Given the description of an element on the screen output the (x, y) to click on. 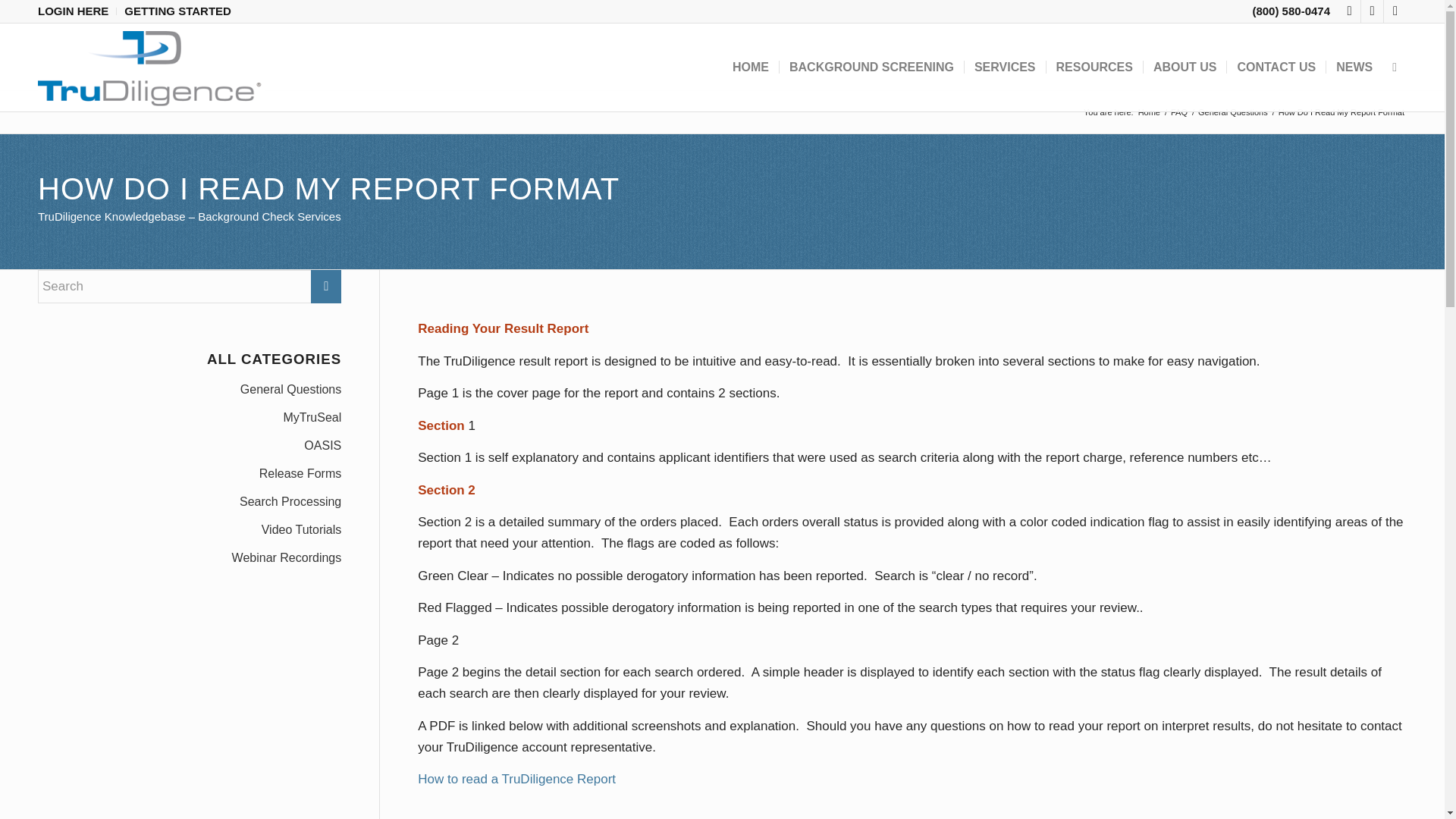
Facebook (1348, 11)
BACKGROUND SCREENING (870, 67)
SERVICES (1004, 67)
LinkedIn (1395, 11)
CONTACT US (1274, 67)
ABOUT US (1184, 67)
X (1372, 11)
RESOURCES (1093, 67)
LOGIN HERE (72, 11)
GETTING STARTED (177, 11)
